Given the description of an element on the screen output the (x, y) to click on. 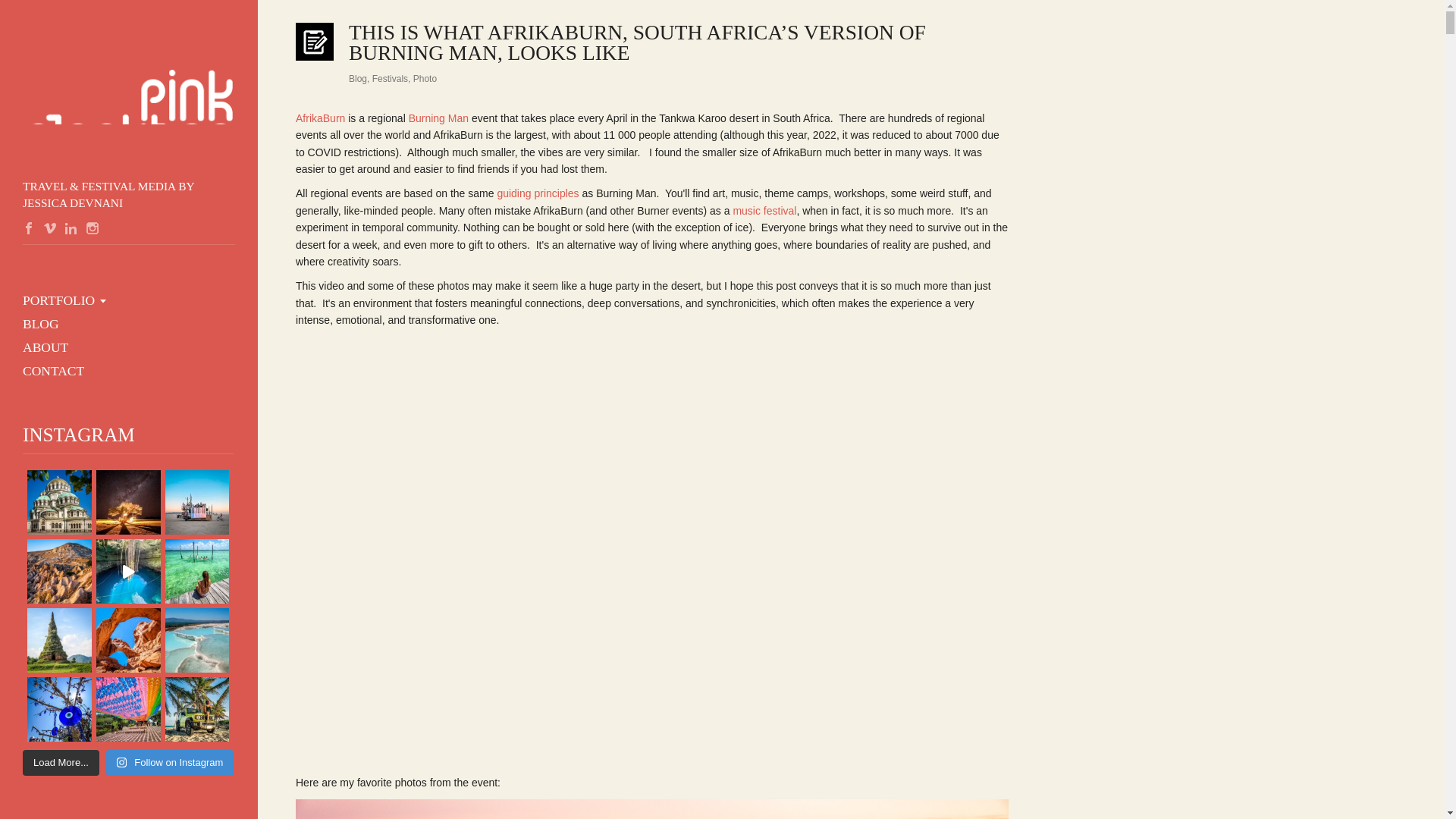
ABOUT (40, 347)
Follow on Instagram (170, 762)
Burning Man (438, 118)
guiding principles (537, 193)
Photo (424, 78)
BLOG (34, 324)
Load More... (61, 762)
CONTACT (48, 371)
Pink Plankton (128, 95)
Blog (357, 78)
AfrikaBurn (320, 118)
music festival (764, 210)
Pink Plankton (128, 95)
PORTFOLIO (53, 300)
